Given the description of an element on the screen output the (x, y) to click on. 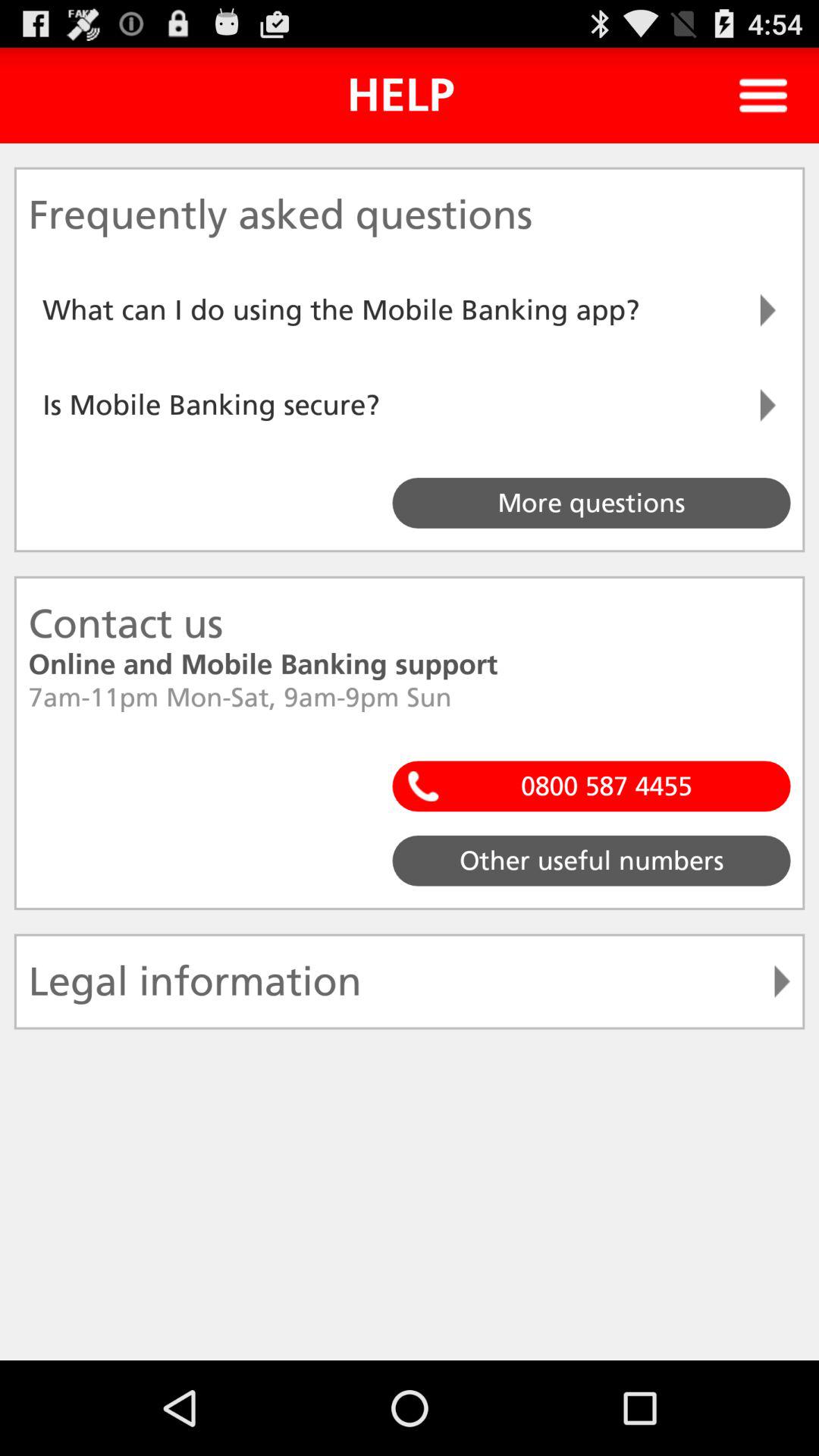
click the button more questions on the web page (592, 502)
click the button on the top right corner of the web page (763, 95)
